Given the description of an element on the screen output the (x, y) to click on. 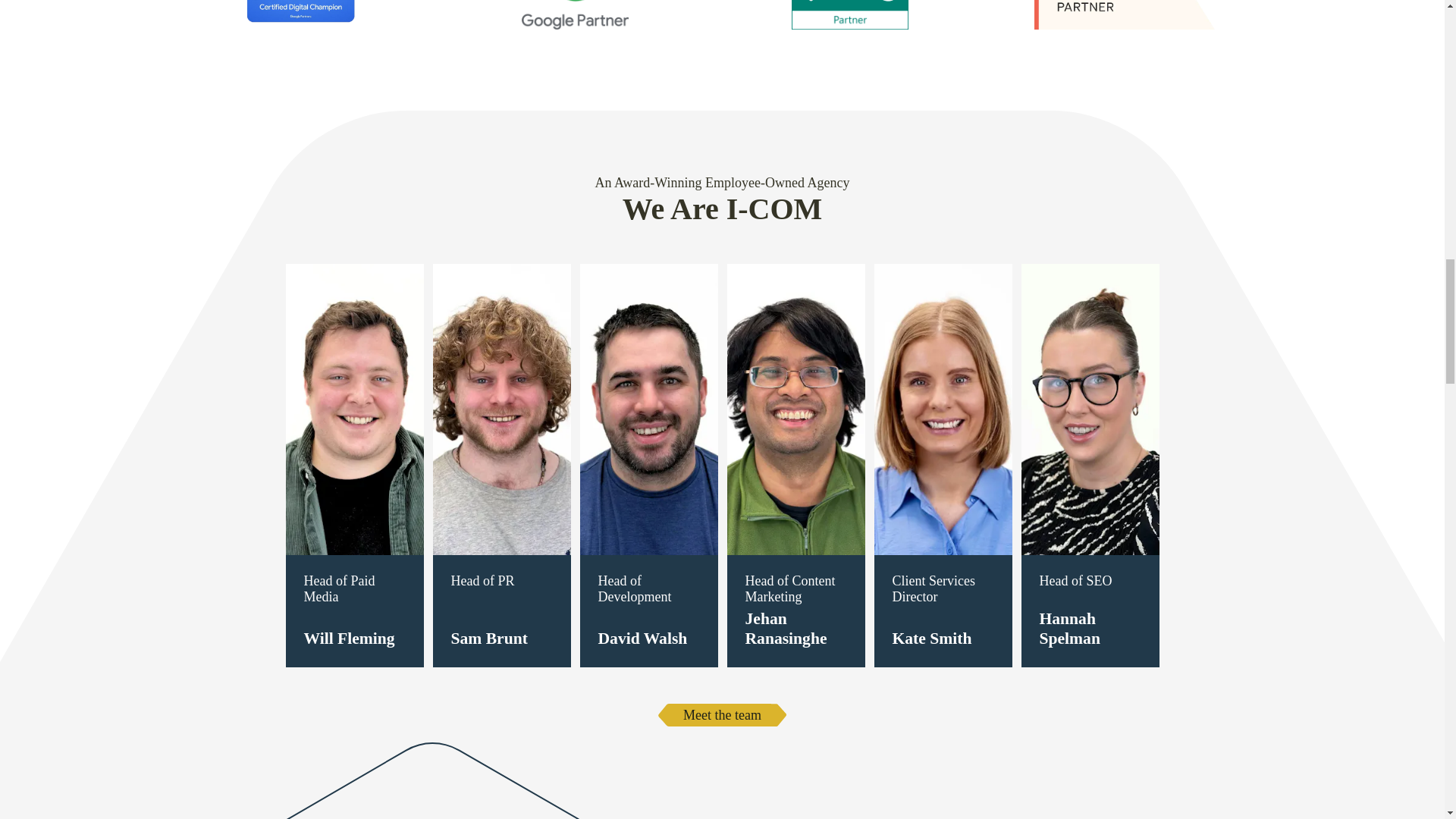
Meet the team (721, 714)
